Given the description of an element on the screen output the (x, y) to click on. 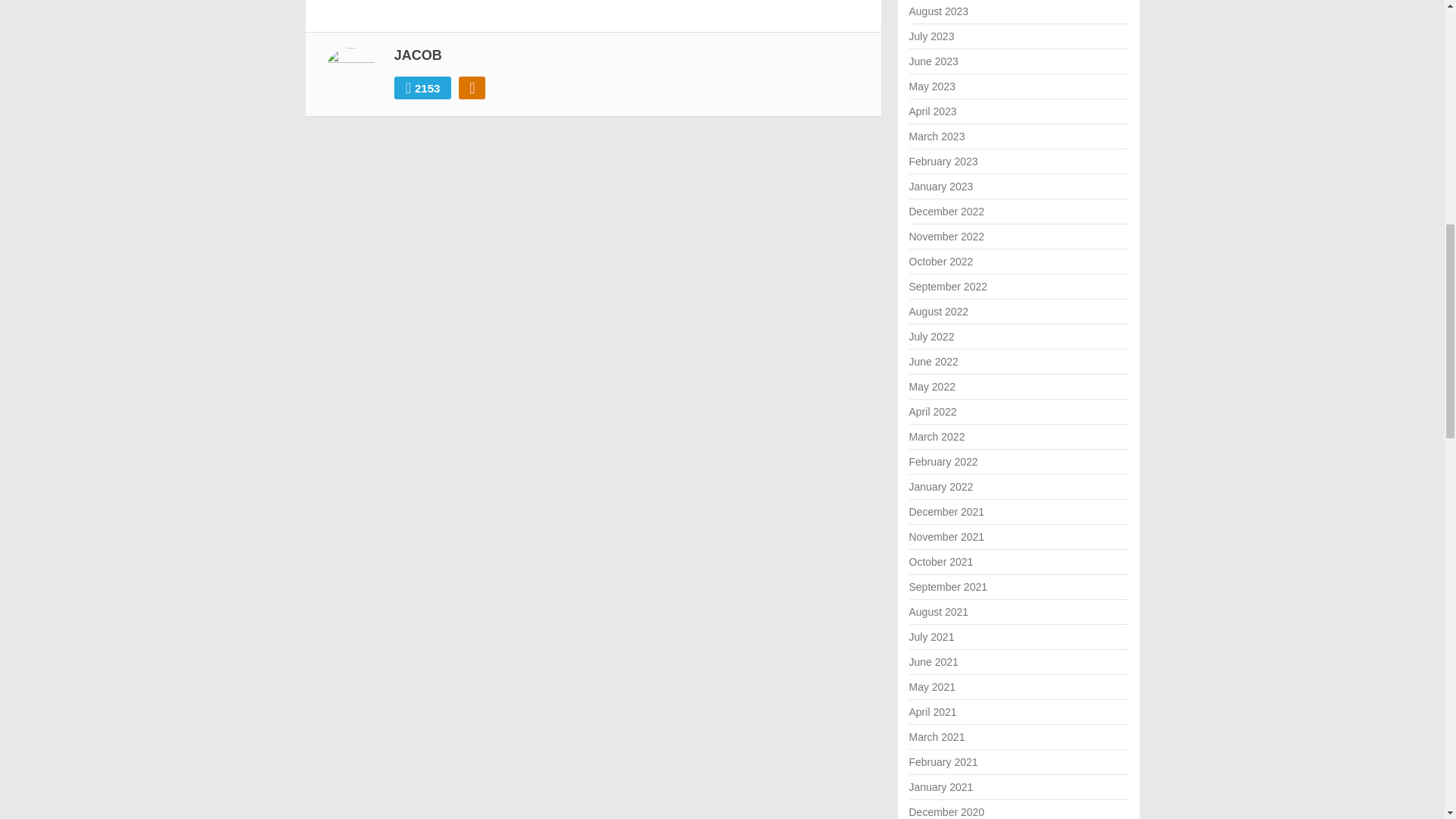
August 2023 (938, 10)
2153 Posts (422, 87)
June 2023 (933, 61)
February 2023 (942, 161)
April 2023 (932, 111)
January 2023 (940, 186)
2153 (422, 87)
July 2023 (930, 36)
March 2023 (935, 136)
May 2023 (931, 86)
Subscribe RSS Feed (471, 87)
Posts by Jacob (418, 55)
